Given the description of an element on the screen output the (x, y) to click on. 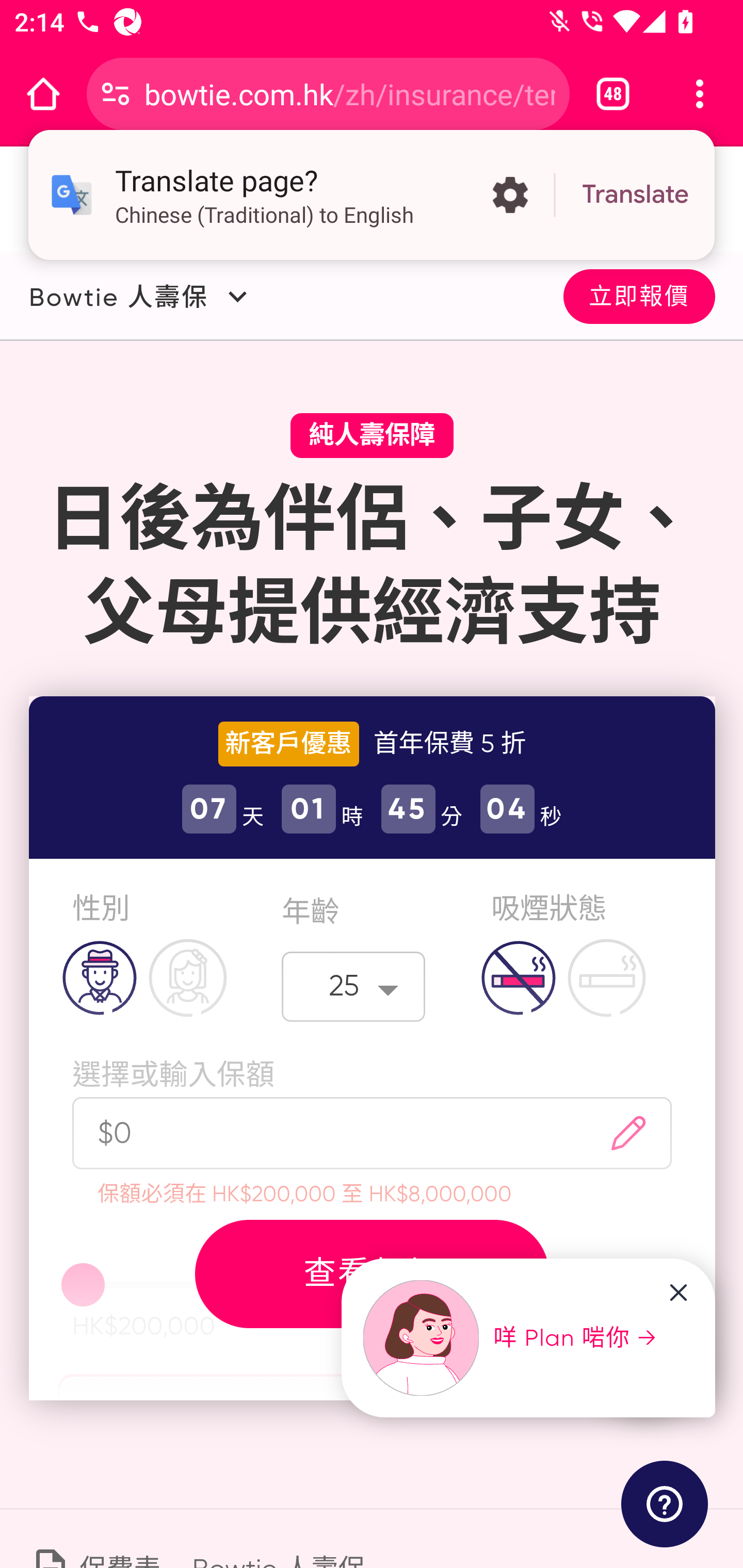
Open the home page (43, 93)
Connection is secure (115, 93)
Switch or close tabs (612, 93)
Customize and control Google Chrome (699, 93)
Translate (634, 195)
More options in the Translate page? (509, 195)
立即報價 (638, 295)
25 (353, 986)
$0 (321, 1132)
查看報價 (371, 1273)
咩 Plan 啱你 → (510, 1338)
